Given the description of an element on the screen output the (x, y) to click on. 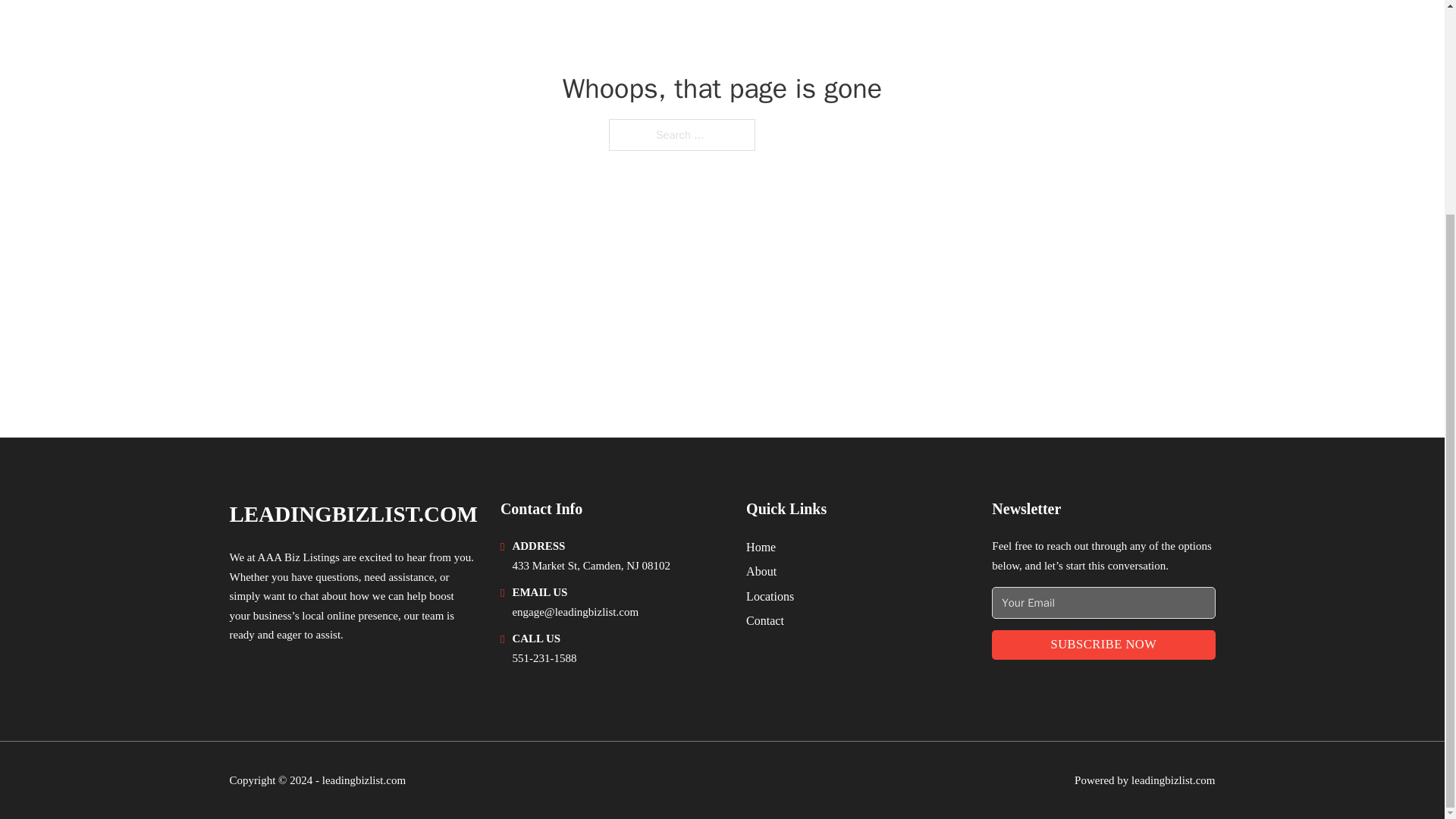
About (760, 571)
Locations (769, 596)
551-231-1588 (544, 657)
LEADINGBIZLIST.COM (352, 514)
Home (760, 547)
Contact (764, 620)
SUBSCRIBE NOW (1102, 644)
